Given the description of an element on the screen output the (x, y) to click on. 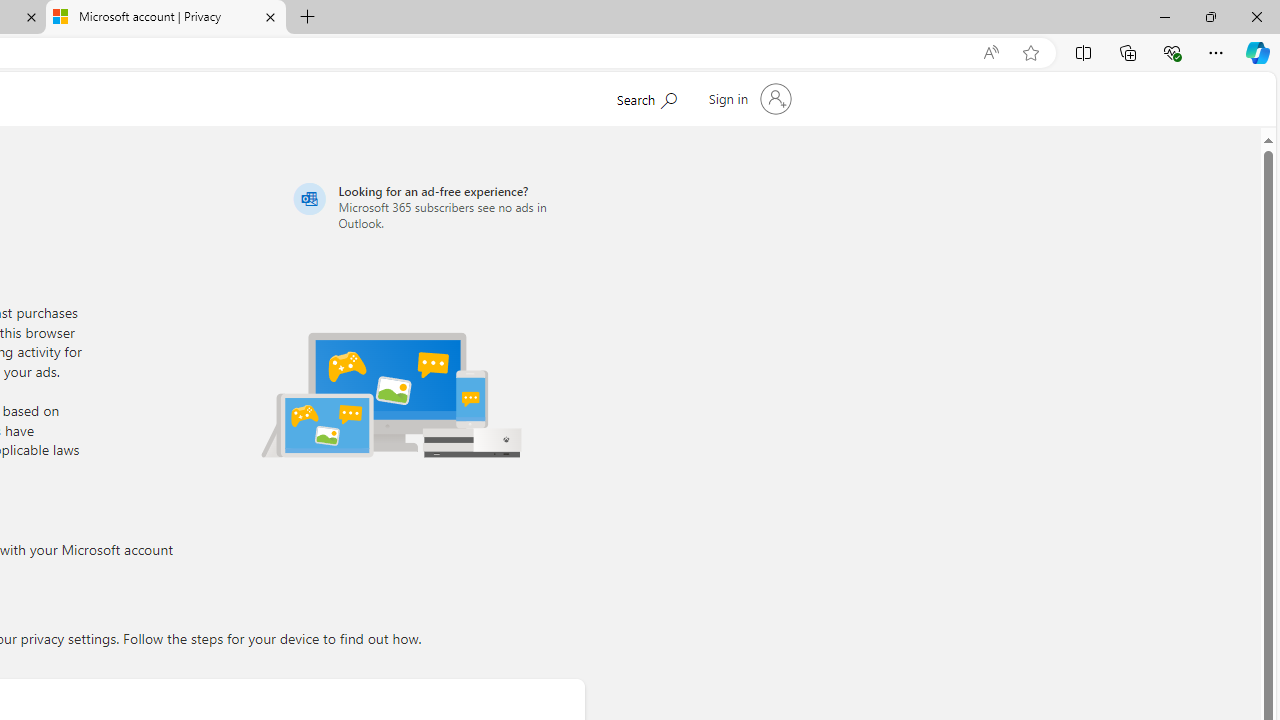
Looking for an ad-free experience? (436, 206)
